Given the description of an element on the screen output the (x, y) to click on. 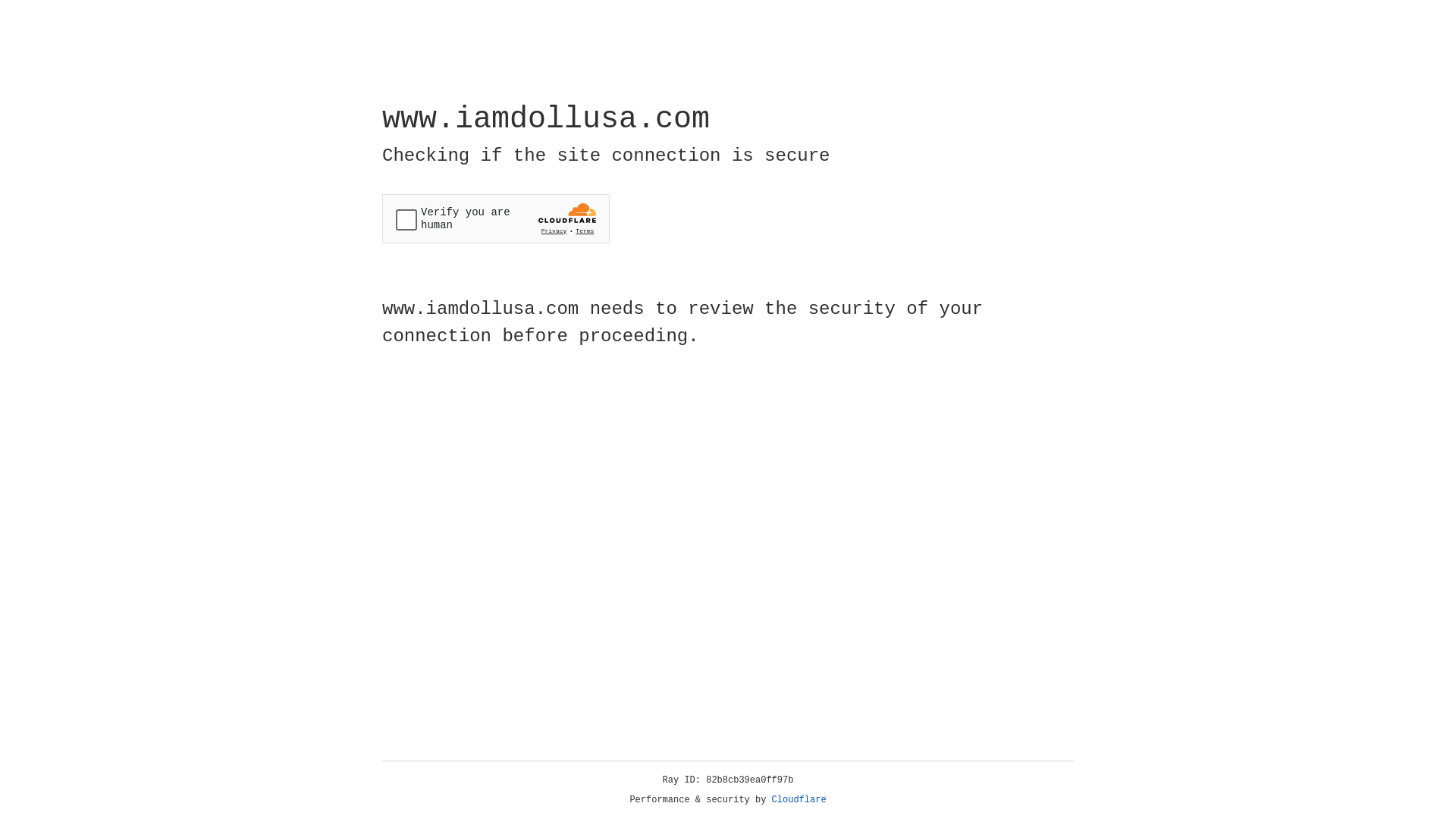
Cloudflare Element type: text (798, 799)
Widget containing a Cloudflare security challenge Element type: hover (495, 218)
